Given the description of an element on the screen output the (x, y) to click on. 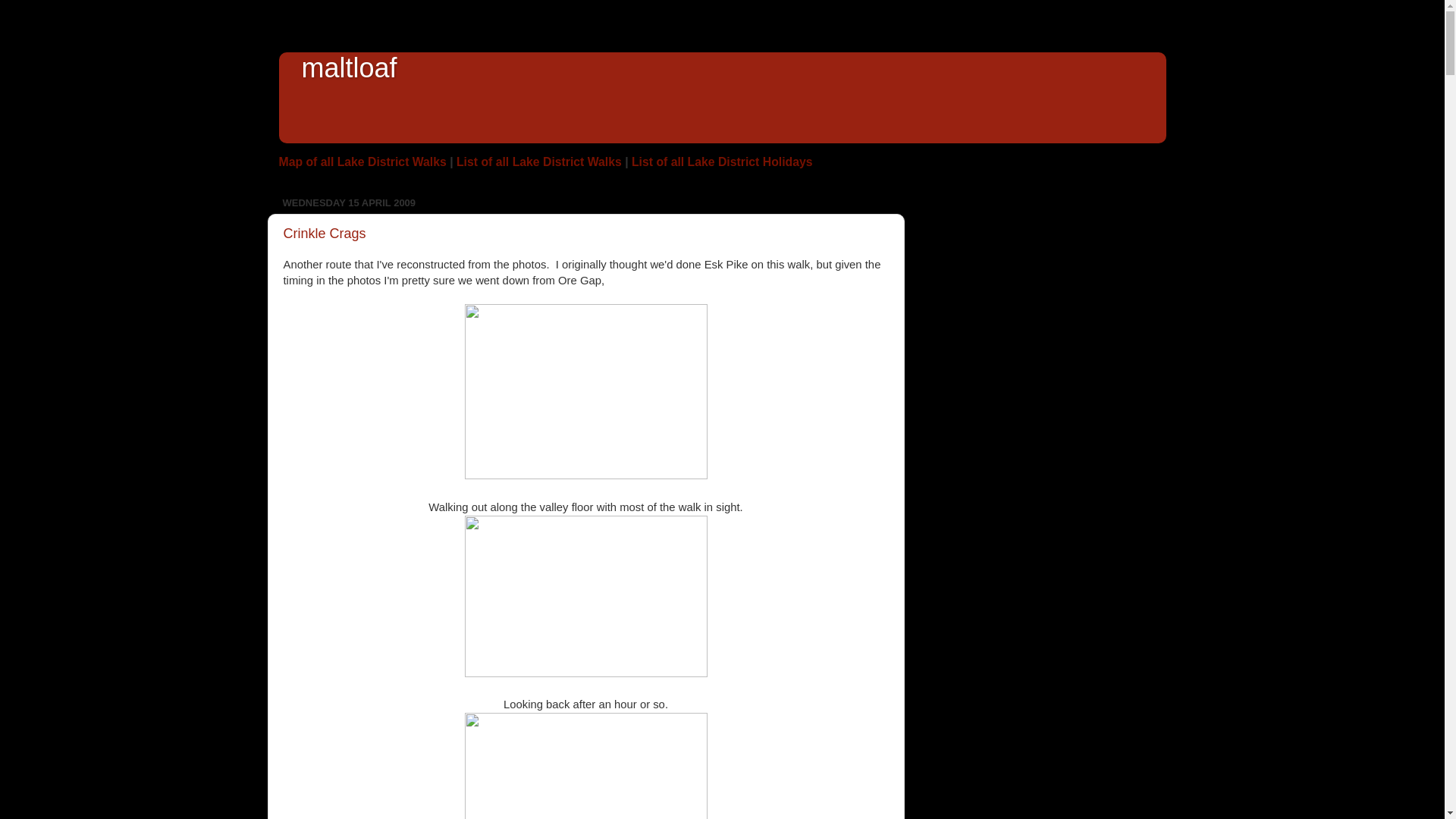
Crinkle Crags (324, 233)
List of all Lake District Holidays (721, 161)
maltloaf (349, 67)
Map of all Lake District Walks (362, 161)
List of all Lake District Walks (539, 161)
